Given the description of an element on the screen output the (x, y) to click on. 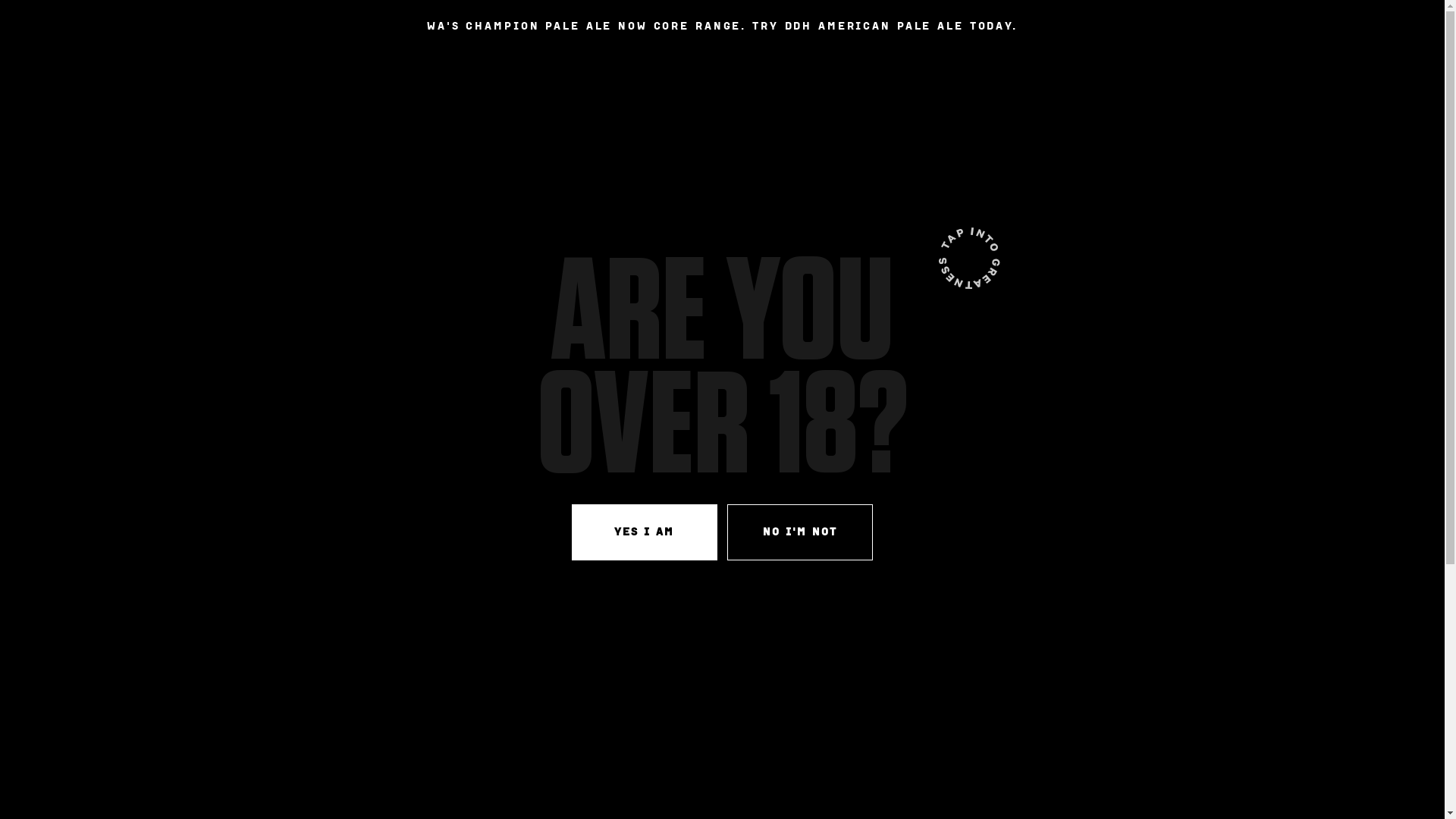
About Element type: text (992, 82)
RETURN TO SHOP Element type: text (341, 371)
Skip to main content Element type: text (0, 53)
NO I'M NOT Element type: text (799, 532)
Cart Element type: text (1159, 82)
Shop Element type: text (1047, 82)
Contact Element type: text (1107, 82)
INNATE Element type: text (304, 84)
YES I AM Element type: text (644, 532)
